Given the description of an element on the screen output the (x, y) to click on. 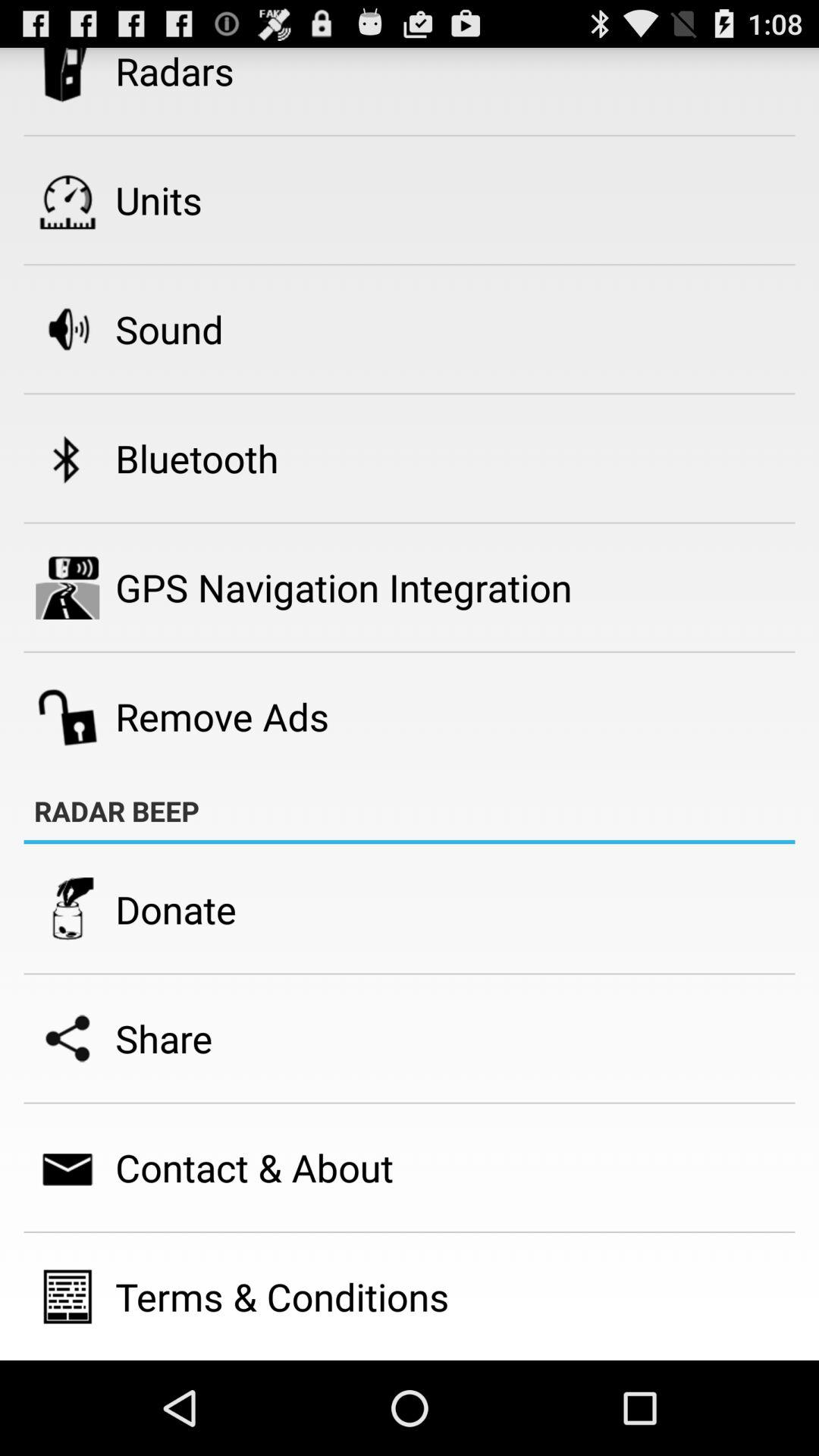
click item above remove ads icon (343, 587)
